Given the description of an element on the screen output the (x, y) to click on. 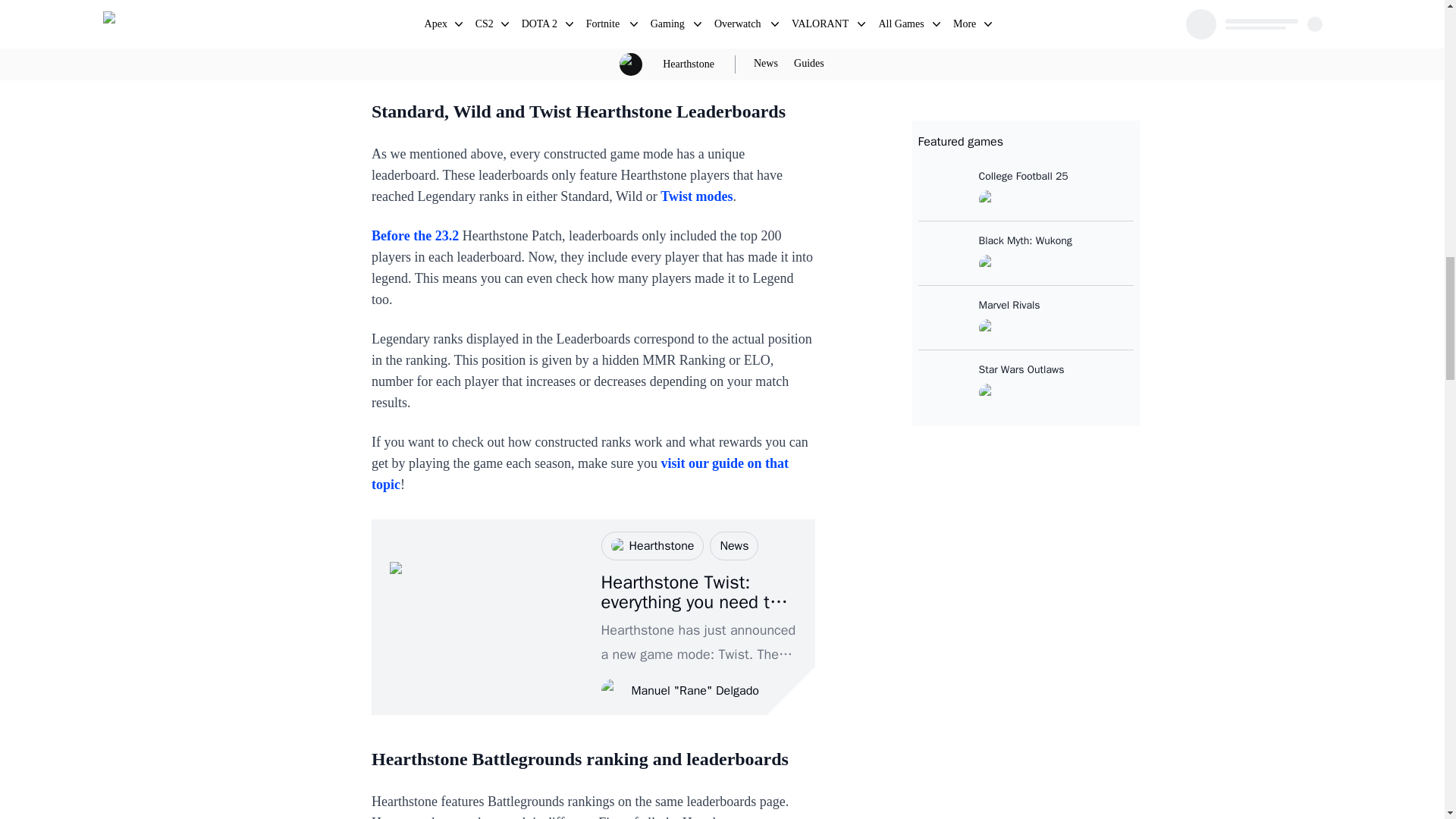
Twist modes (696, 196)
visit our guide on that topic (580, 473)
Before the 23.2 (414, 235)
